Given the description of an element on the screen output the (x, y) to click on. 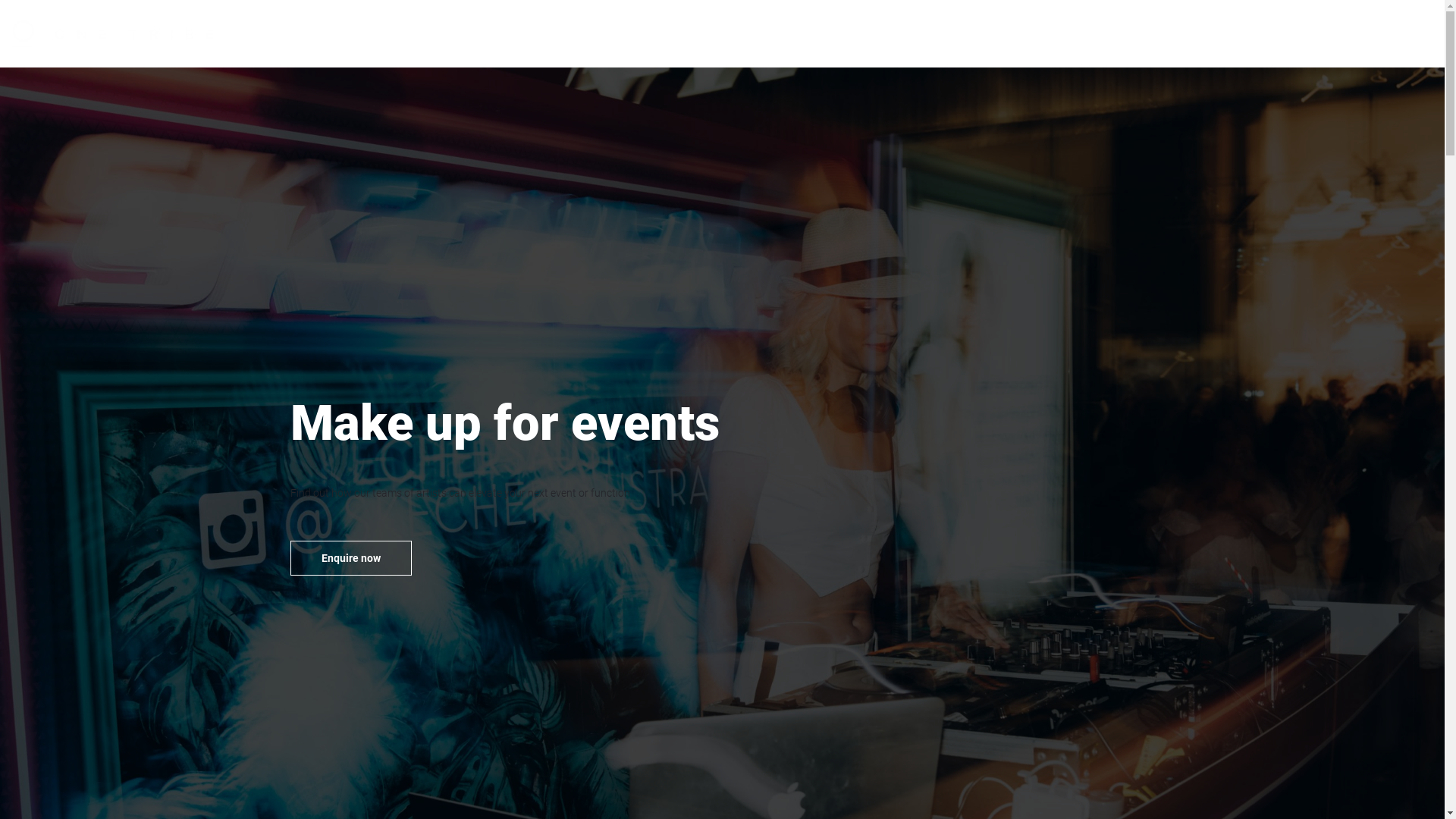
Articles Element type: text (1318, 32)
Gallery Element type: text (1261, 32)
Enquire now Element type: text (350, 557)
Home Element type: text (1143, 32)
Contact us Element type: text (1384, 32)
Directory Element type: text (1201, 32)
